Given the description of an element on the screen output the (x, y) to click on. 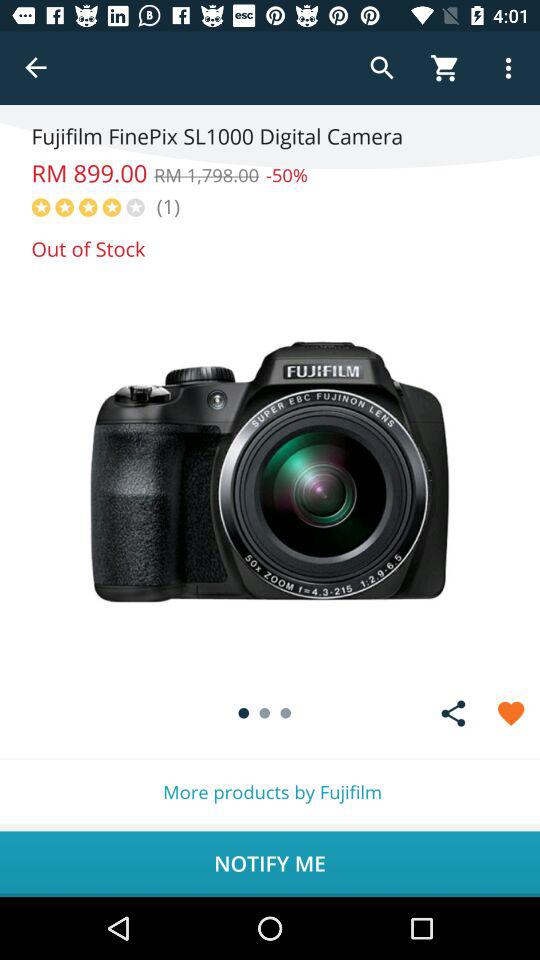
go to previous (36, 68)
